Given the description of an element on the screen output the (x, y) to click on. 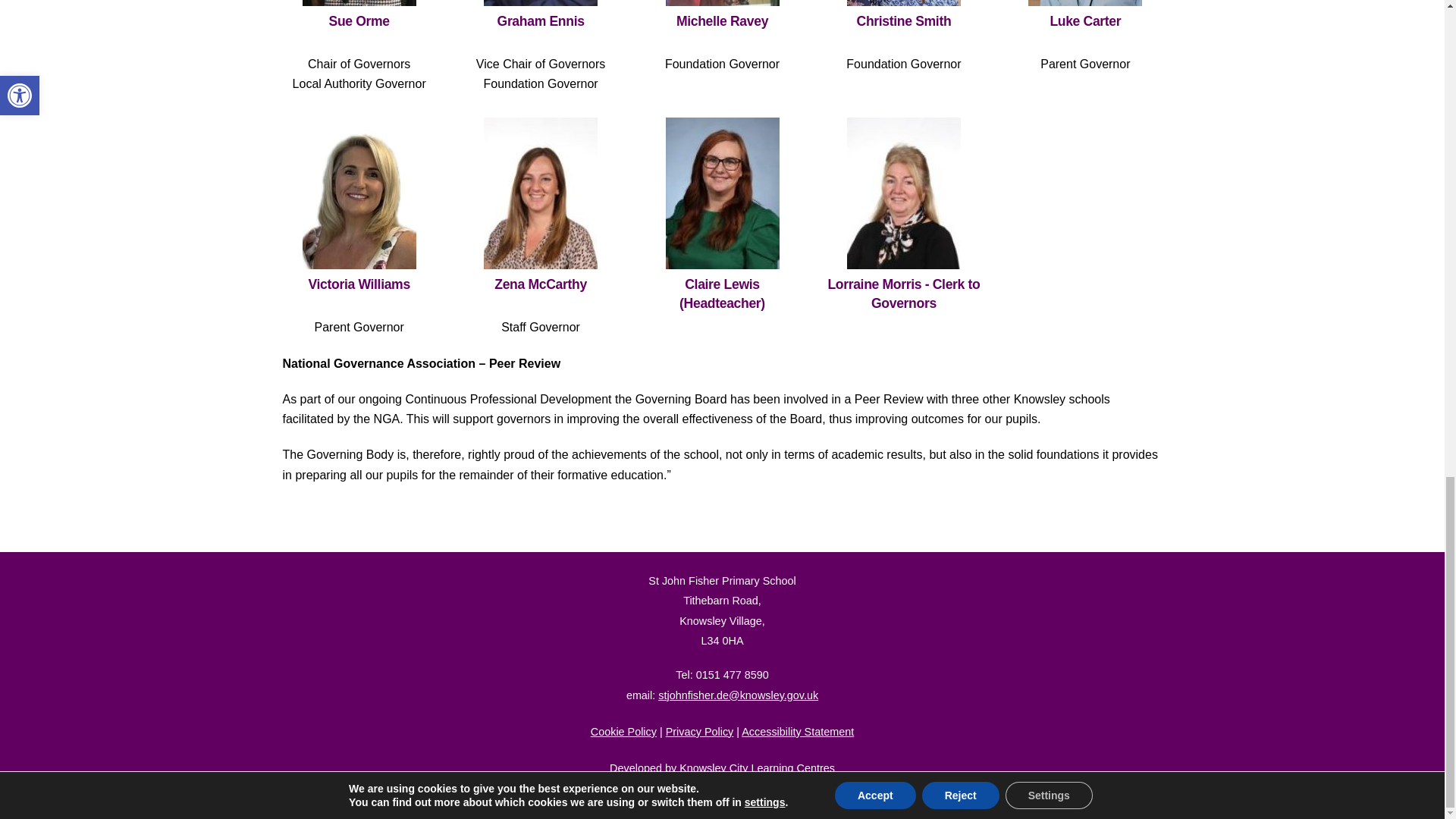
Sue Orme  (359, 2)
Graham Ennis (539, 2)
Christine Smith (903, 2)
Luke Carter (1084, 2)
Michelle Ravey (721, 2)
